Given the description of an element on the screen output the (x, y) to click on. 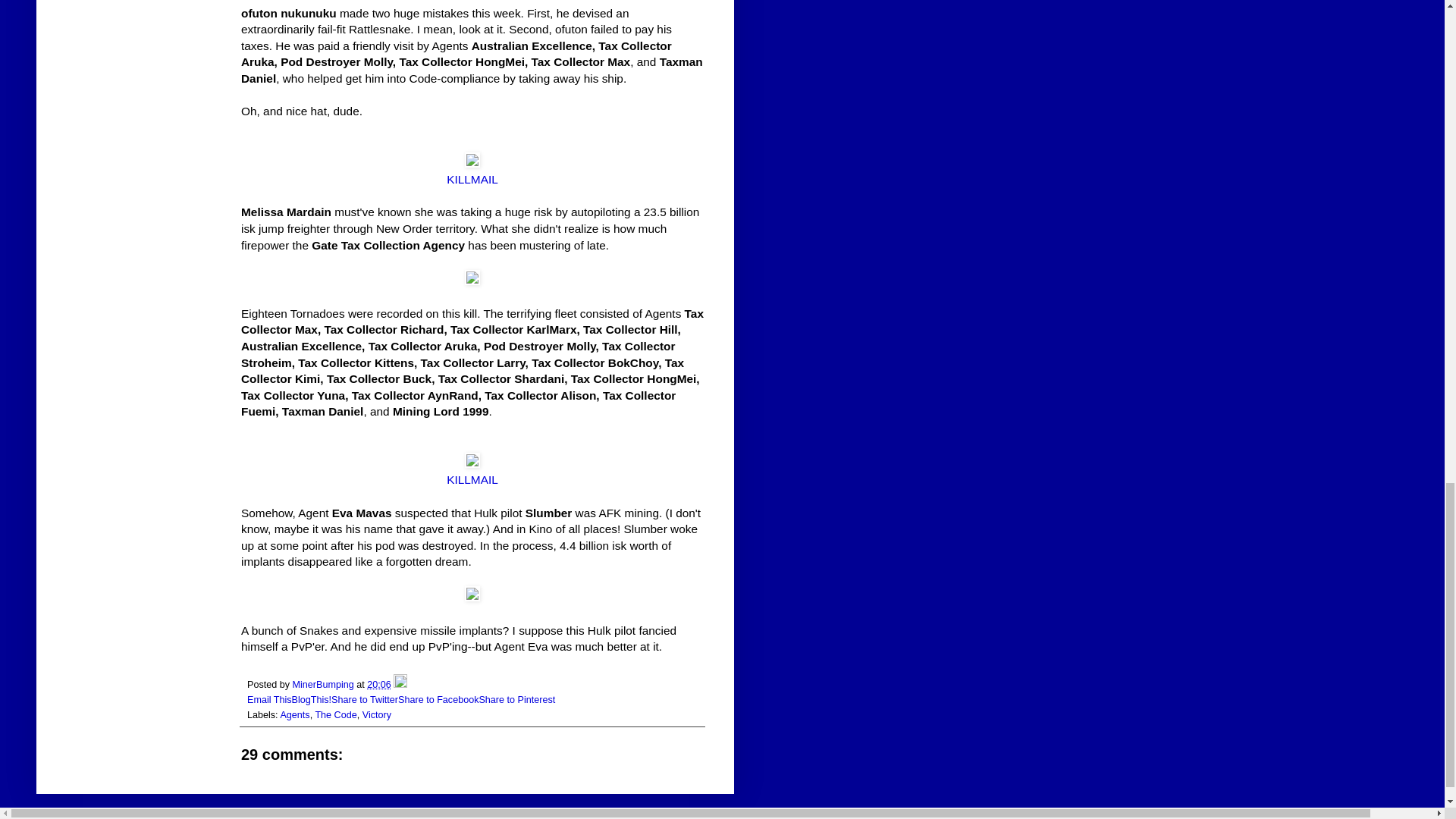
The Code (335, 715)
Email This (269, 699)
MinerBumping (324, 684)
BlogThis! (311, 699)
author profile (324, 684)
KILLMAIL (471, 178)
Share to Pinterest (516, 699)
Share to Facebook (438, 699)
Share to Twitter (364, 699)
Edit Post (400, 684)
